Given the description of an element on the screen output the (x, y) to click on. 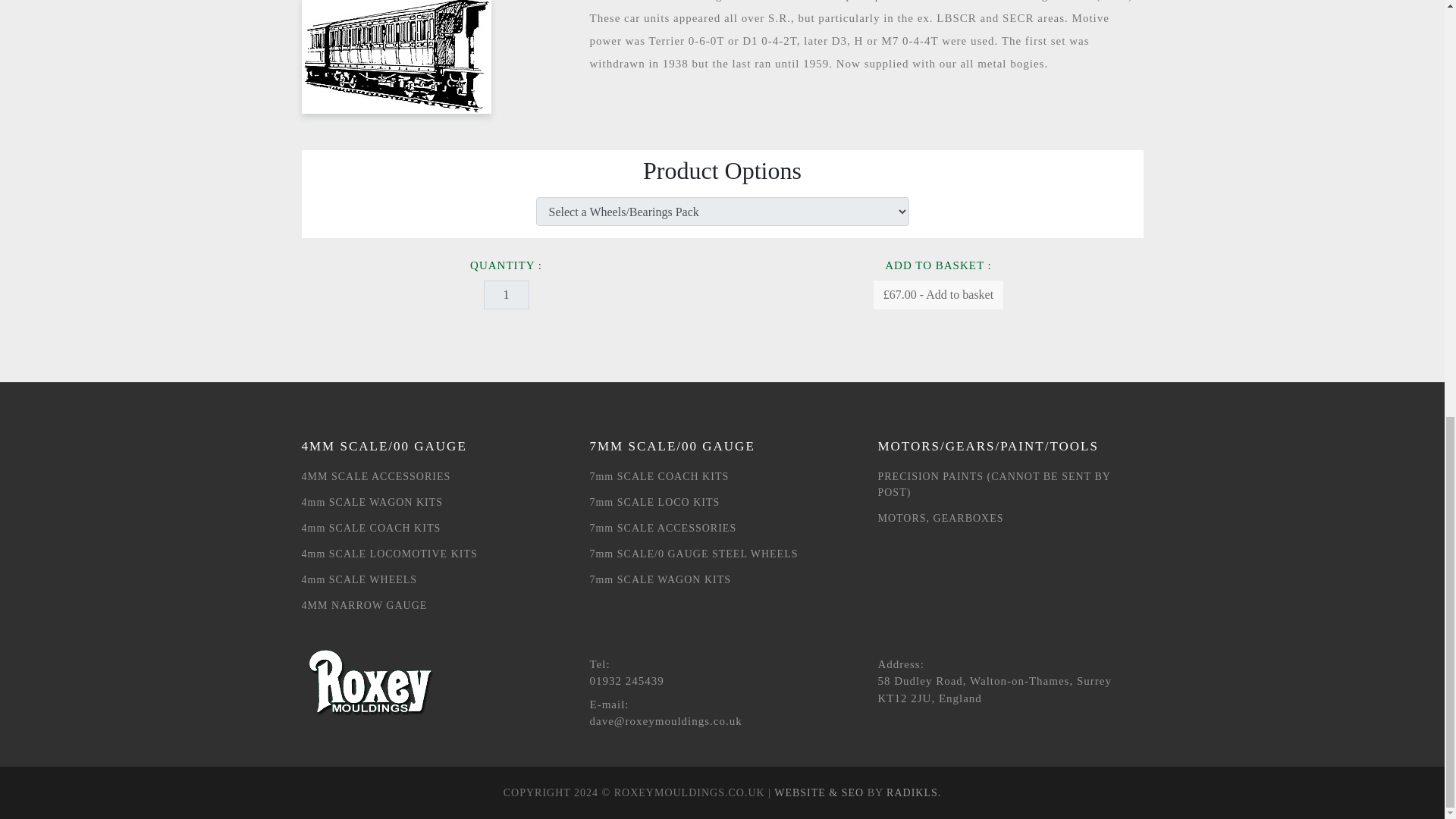
4MM NARROW GAUGE (434, 605)
RADIKLS. (913, 792)
7mm SCALE ACCESSORIES (721, 528)
4mm SCALE COACH KITS (434, 528)
7mm SCALE WAGON KITS (721, 579)
4mm SCALE WAGON KITS (434, 502)
4mm SCALE LOCOMOTIVE KITS (434, 553)
MOTORS, GEARBOXES (1009, 518)
4mm SCALE WHEELS (434, 579)
7mm SCALE LOCO KITS (721, 502)
